Given the description of an element on the screen output the (x, y) to click on. 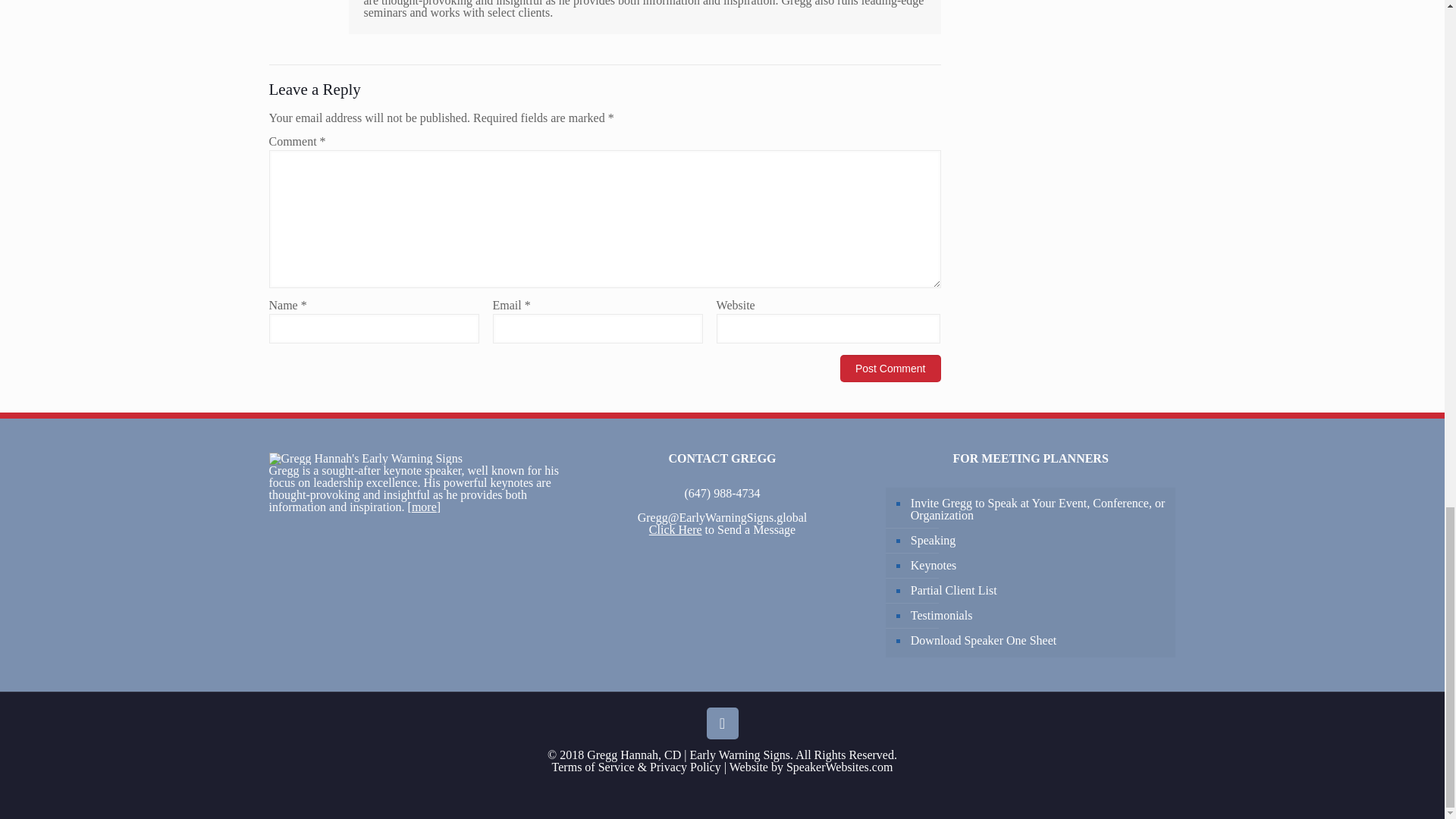
Testimonials (1038, 615)
Speaking (1038, 540)
Download Speaker One Sheet (1038, 640)
Websites for Professional Speakers (839, 766)
Keynotes (1038, 565)
Gregg Hannah's Early Warning Signs (364, 458)
Click Here to Send a Message (721, 529)
Post Comment (890, 368)
Post Comment (890, 368)
